Given the description of an element on the screen output the (x, y) to click on. 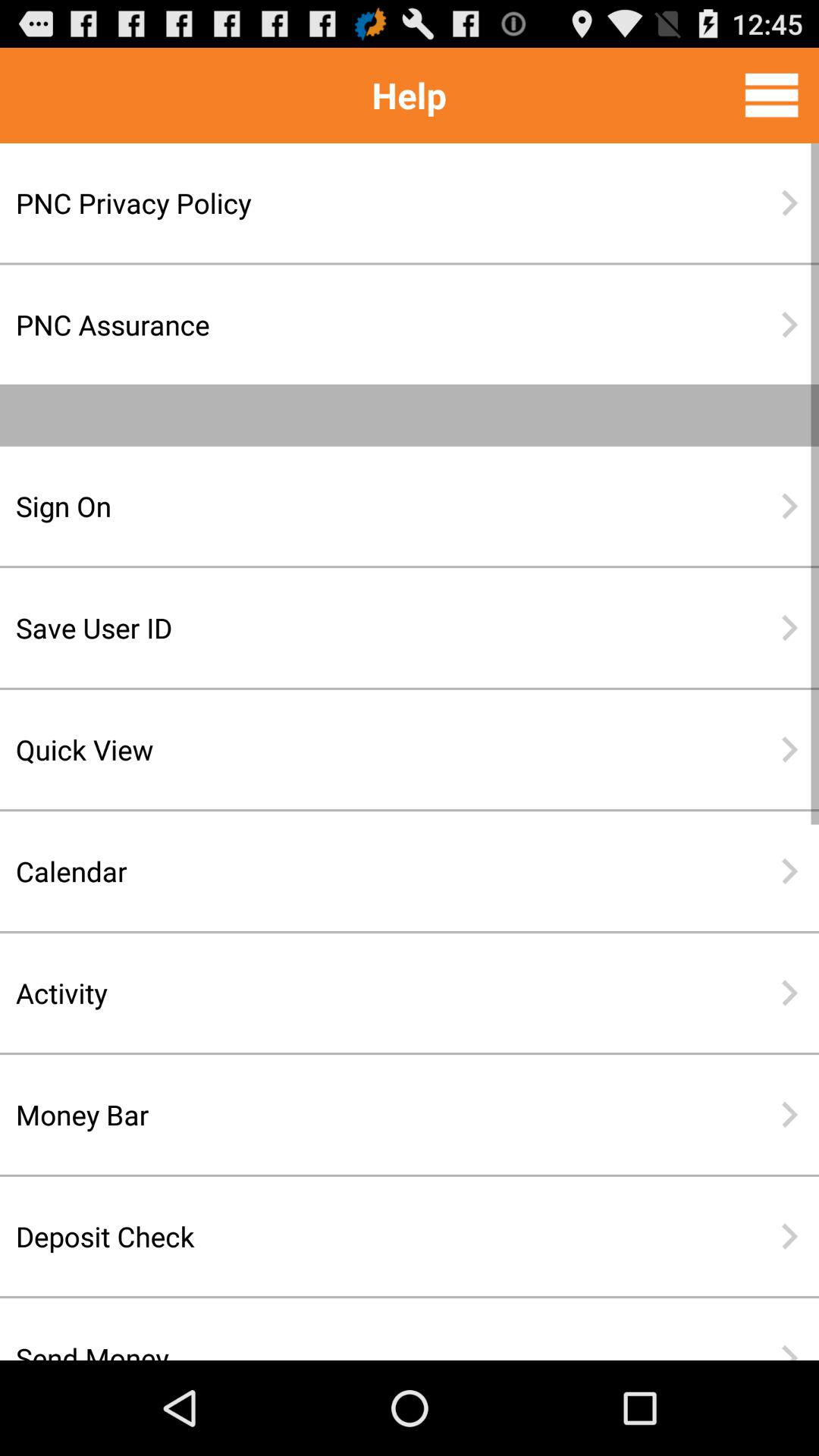
tap the item next to the pnc privacy policy item (789, 202)
